Given the description of an element on the screen output the (x, y) to click on. 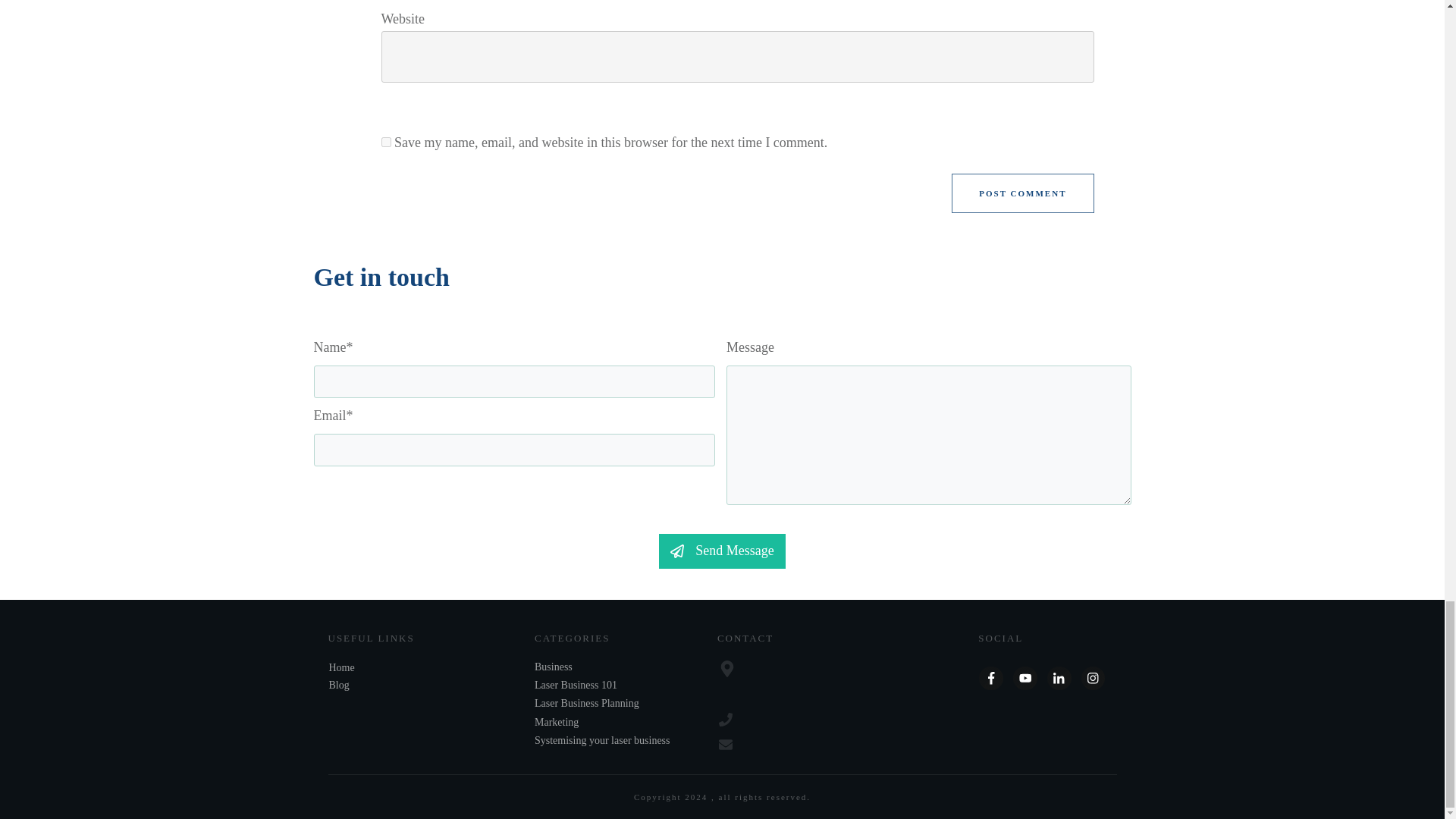
Laser Business 101 (575, 685)
yes (385, 142)
Systemising your laser business (601, 740)
Business (553, 667)
Blog (339, 685)
Marketing (556, 722)
Send Message (721, 550)
Laser Business Planning (586, 703)
Home (342, 667)
POST COMMENT (1022, 192)
